Given the description of an element on the screen output the (x, y) to click on. 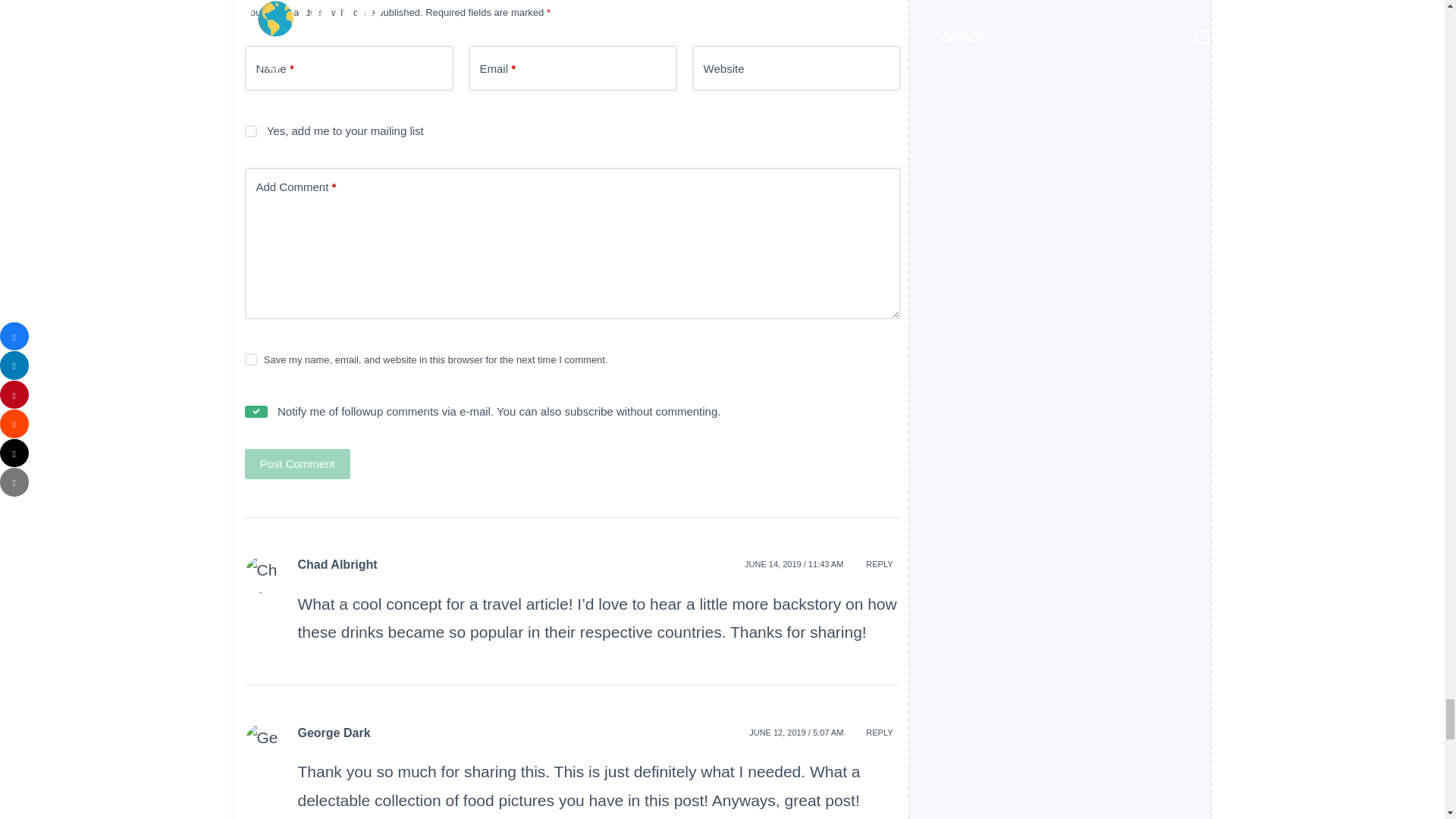
1 (250, 131)
yes (255, 411)
yes (250, 358)
